Given the description of an element on the screen output the (x, y) to click on. 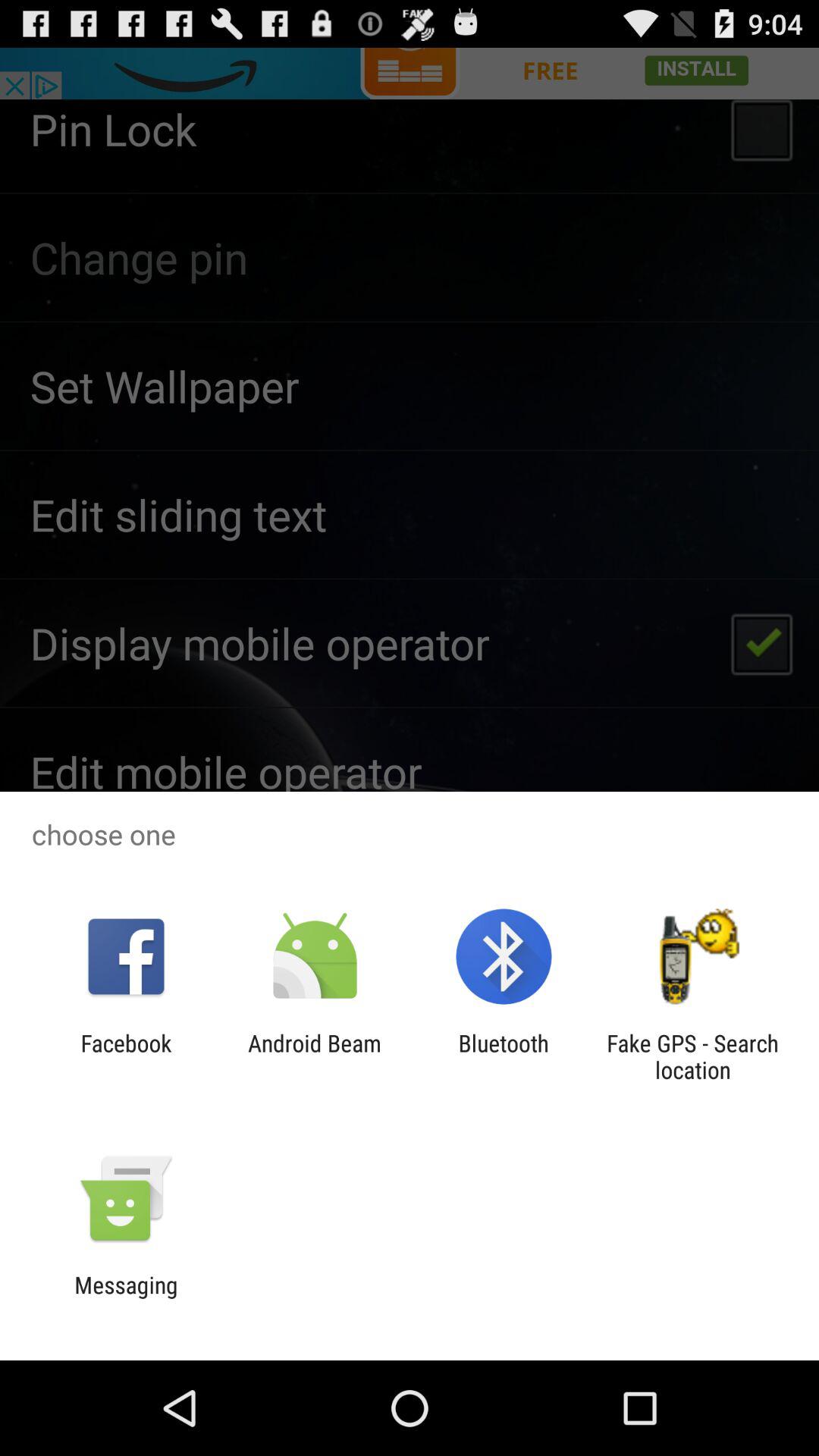
press the icon next to facebook (314, 1056)
